Given the description of an element on the screen output the (x, y) to click on. 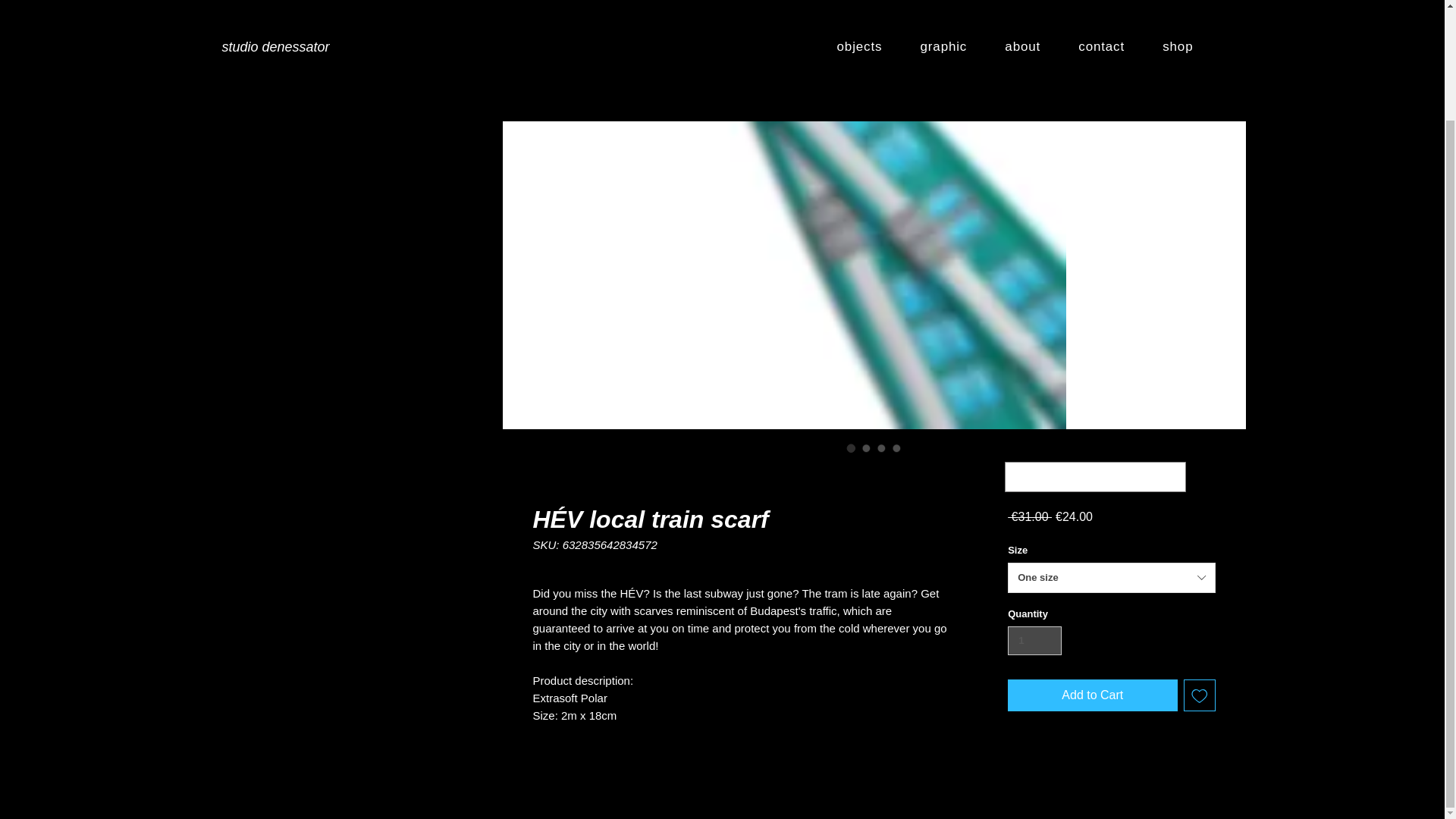
One size (1110, 577)
Add to Cart (1091, 695)
1 (1034, 640)
